Given the description of an element on the screen output the (x, y) to click on. 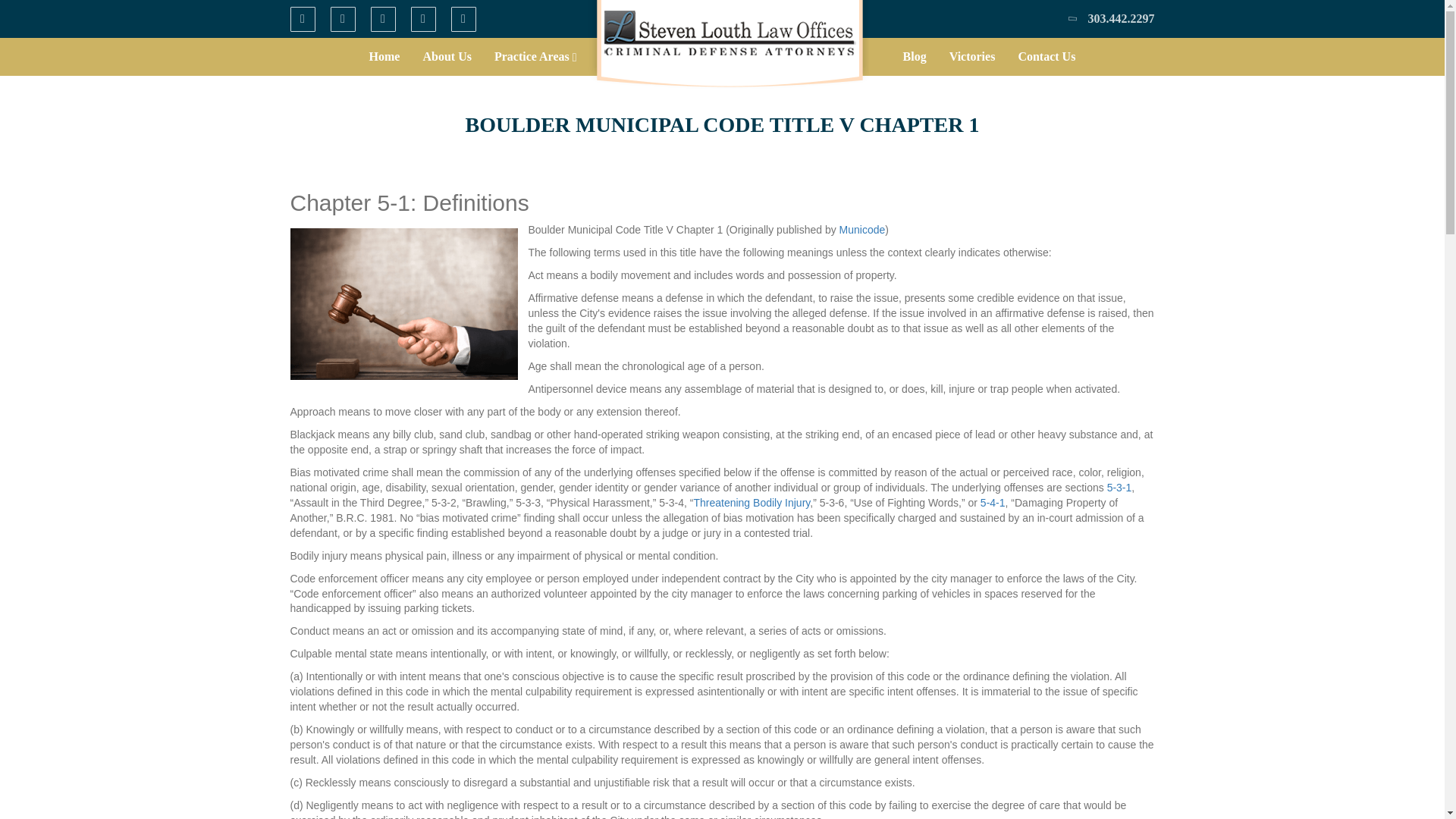
Practice Areas (535, 56)
303.442.2297 (1120, 18)
About Us (445, 56)
Home (385, 56)
